Given the description of an element on the screen output the (x, y) to click on. 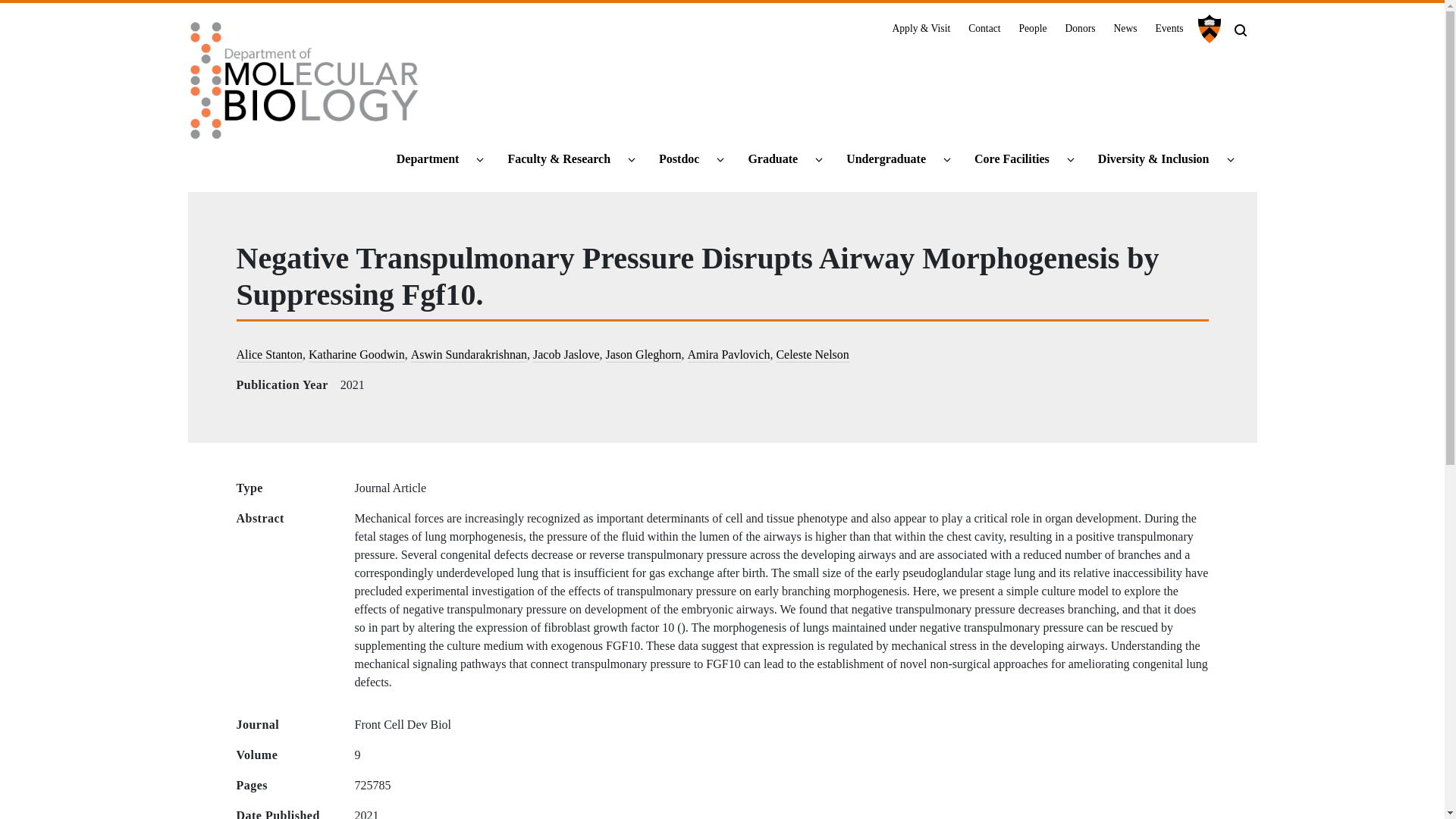
Department (434, 159)
Graduate (778, 159)
Home (304, 86)
Postdoc (685, 159)
